Given the description of an element on the screen output the (x, y) to click on. 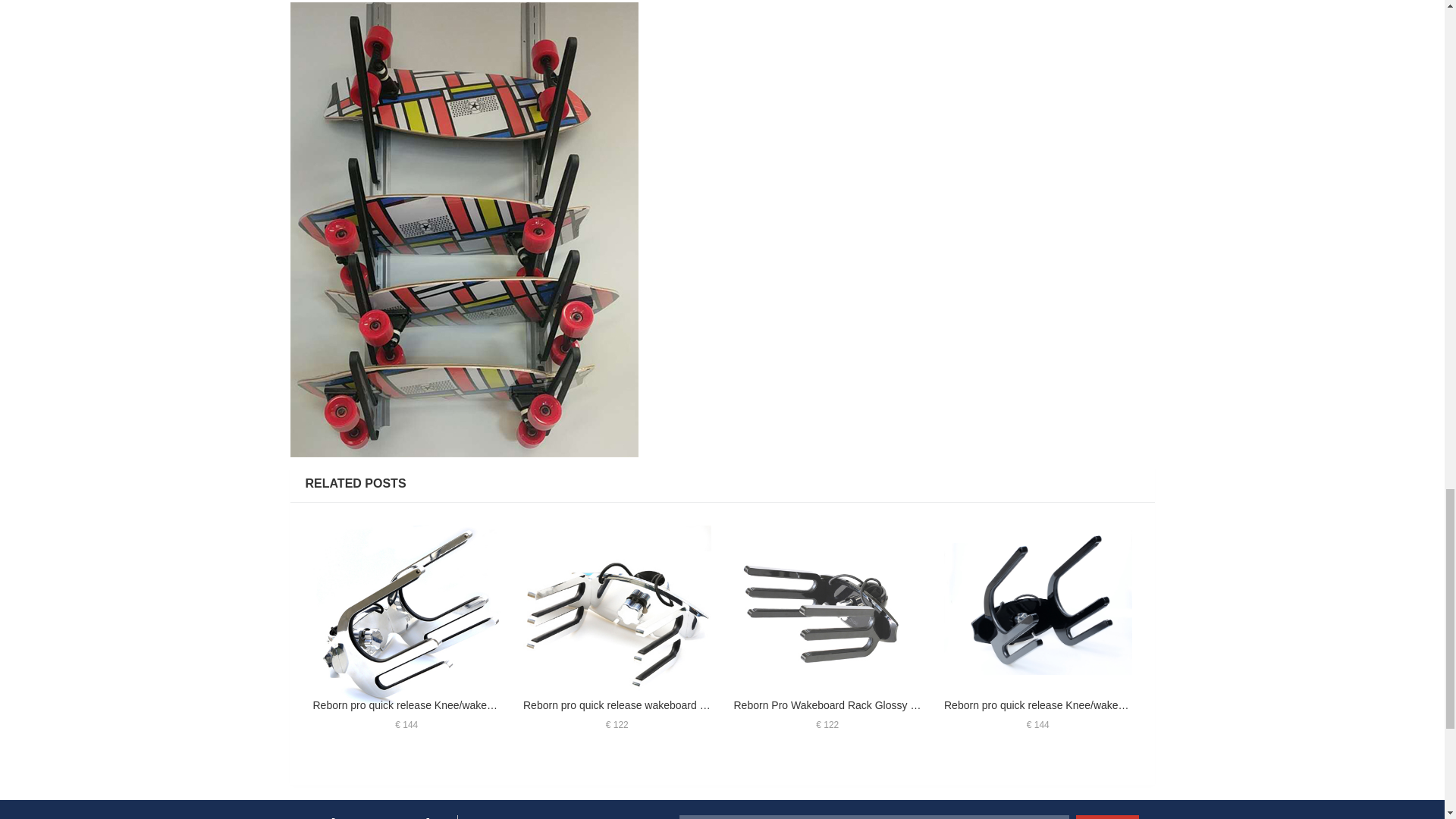
Query (1106, 816)
